Given the description of an element on the screen output the (x, y) to click on. 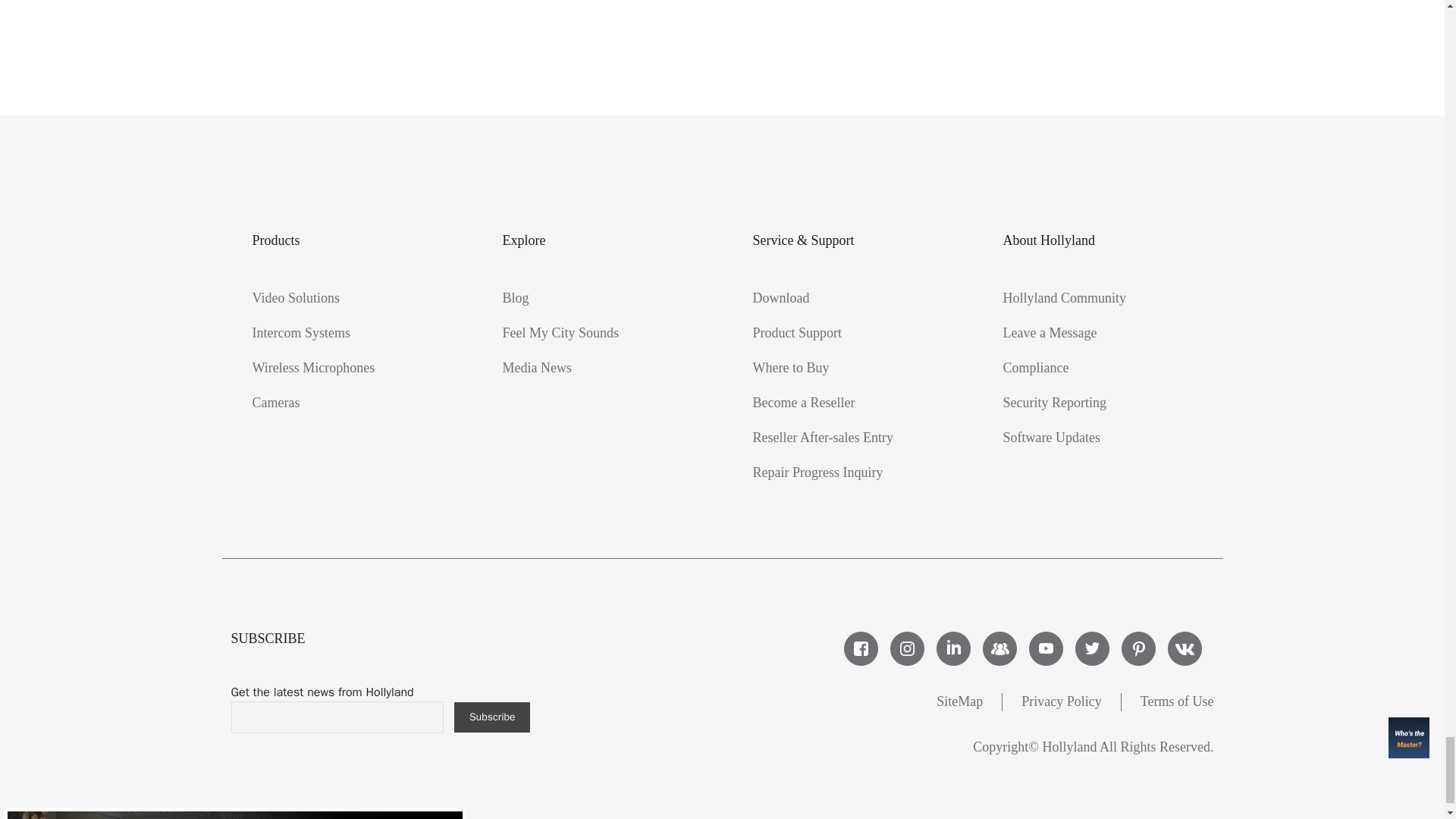
Subscribe (491, 716)
